Given the description of an element on the screen output the (x, y) to click on. 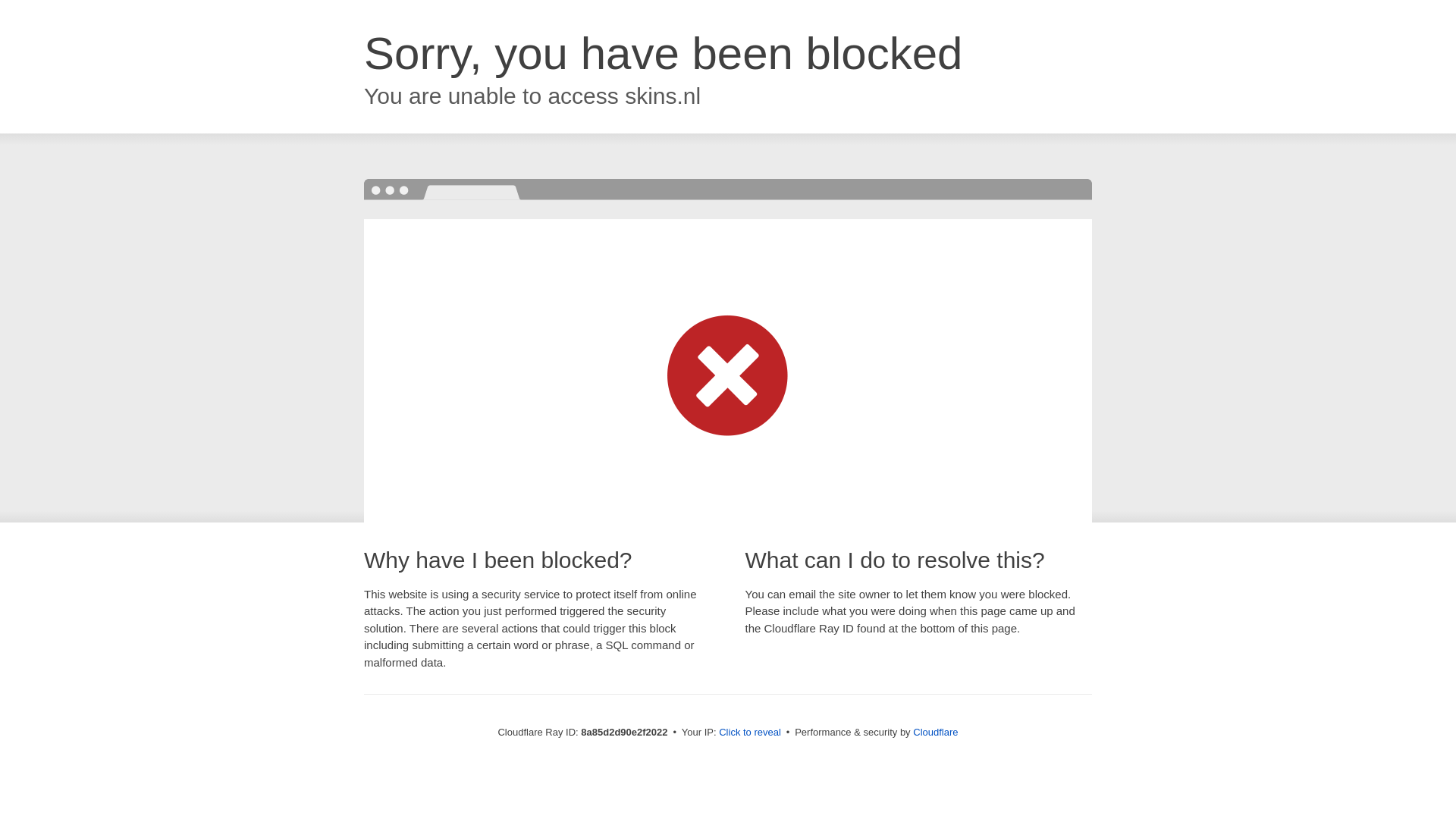
Click to reveal (749, 732)
Cloudflare (935, 731)
